Given the description of an element on the screen output the (x, y) to click on. 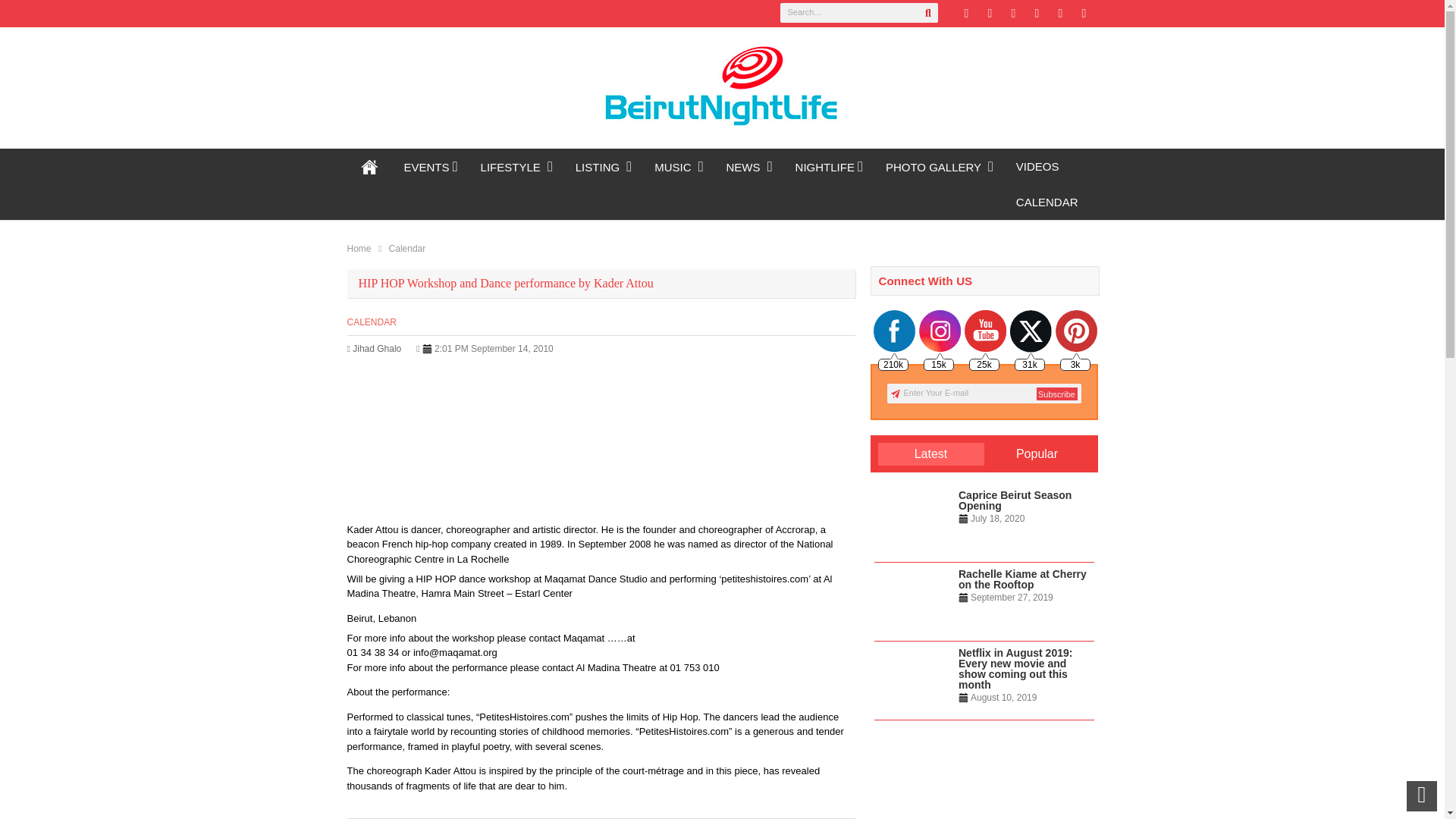
Search... (857, 12)
Instagram (1060, 13)
BEIRUTNIGHTLIFE :: BEIRUT THE ONLY WAY IT SHOULD BE (370, 166)
Subscribe (1056, 393)
Twitter (966, 13)
LISTING (603, 166)
LIFESTYLE (516, 166)
Pinterest (1013, 13)
Facebook (988, 13)
